Given the description of an element on the screen output the (x, y) to click on. 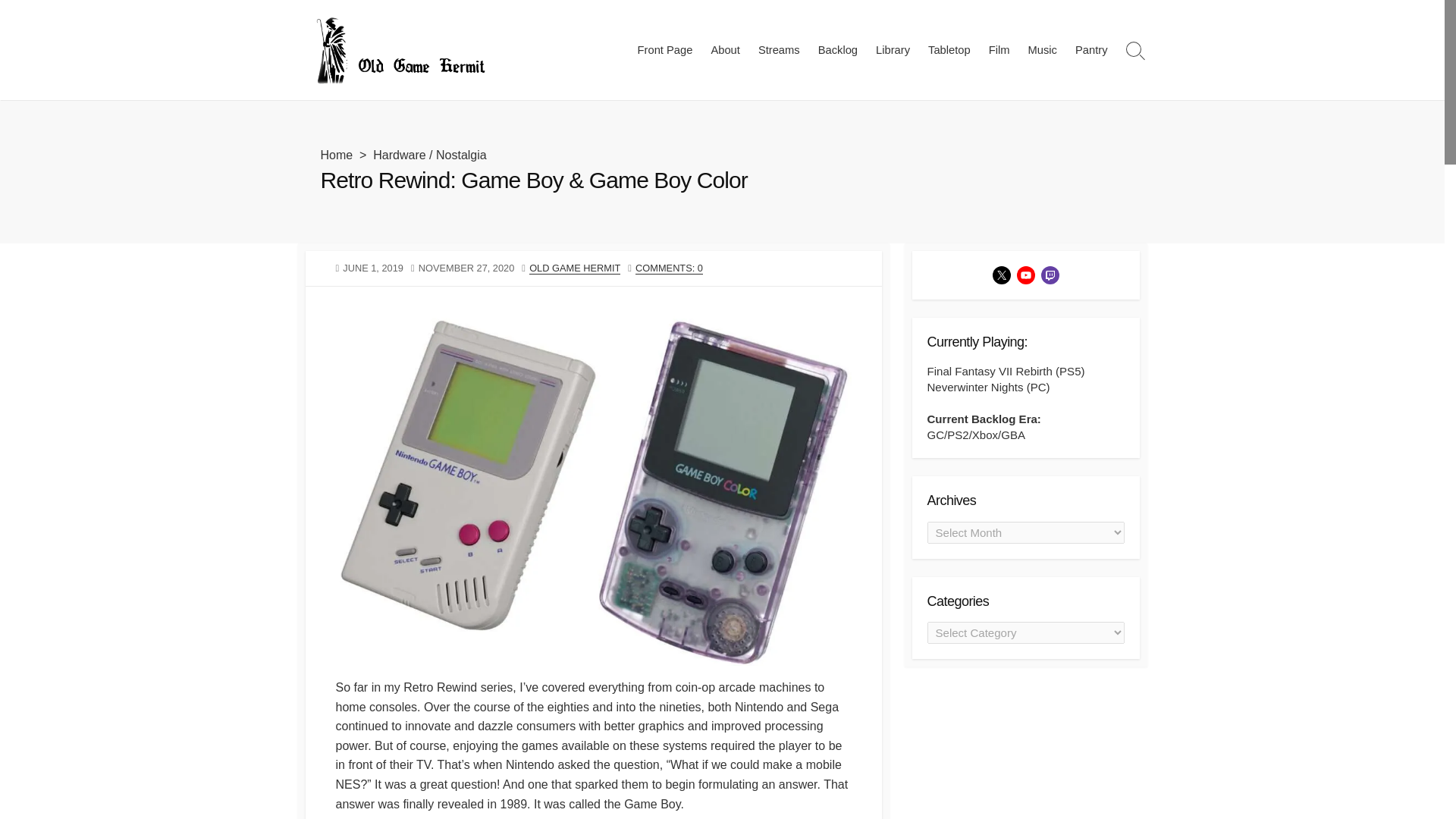
OLD GAME HERMIT (574, 267)
About (724, 49)
COMMENTS: 0 (668, 267)
Music (1042, 49)
Library (892, 49)
Backlog (837, 49)
Tabletop (948, 49)
Old Game Hermit (399, 50)
Front Page (664, 49)
Film (999, 49)
